Given the description of an element on the screen output the (x, y) to click on. 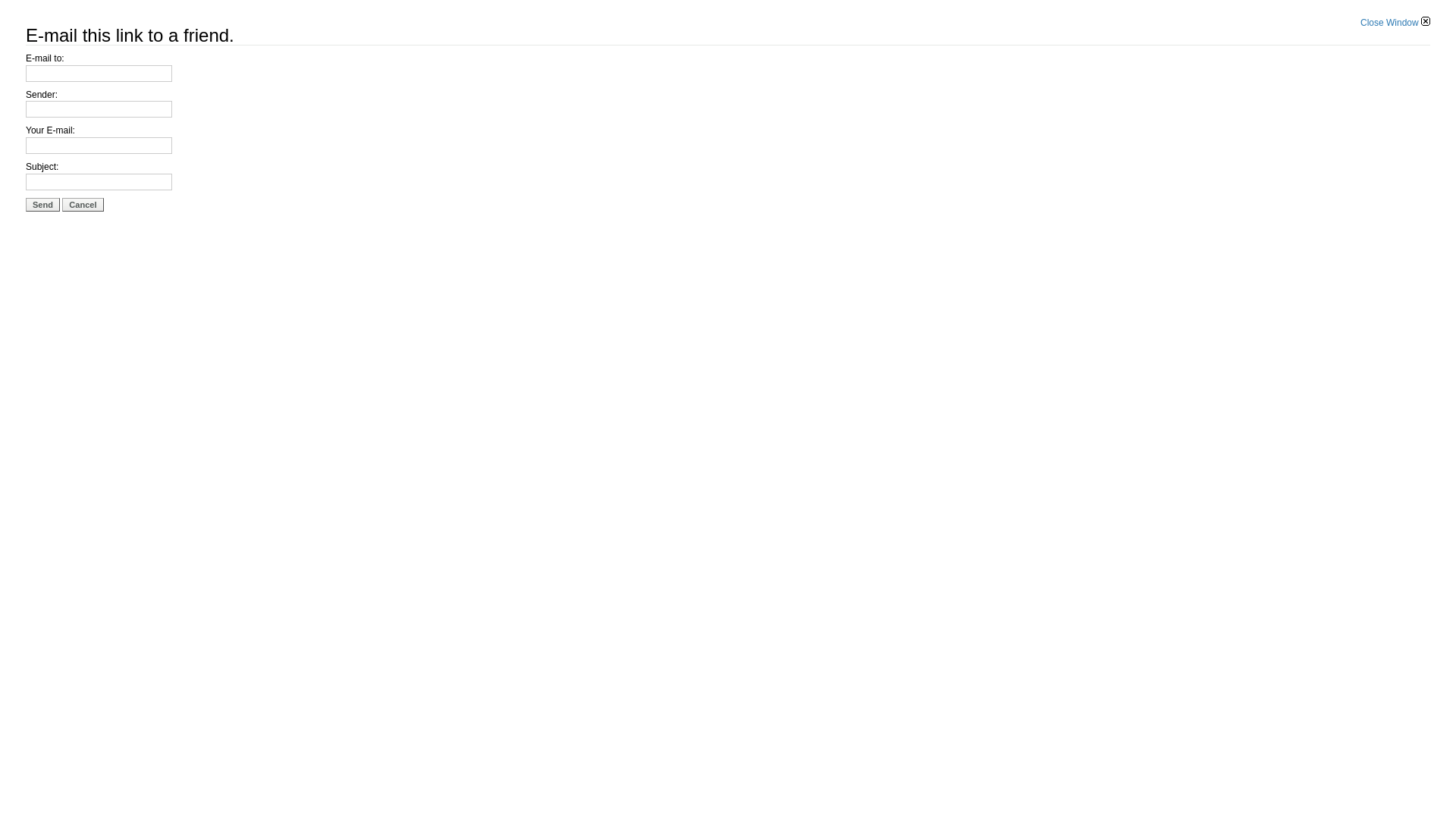
Close Window Element type: text (1395, 22)
Send Element type: text (42, 204)
Cancel Element type: text (82, 204)
